Given the description of an element on the screen output the (x, y) to click on. 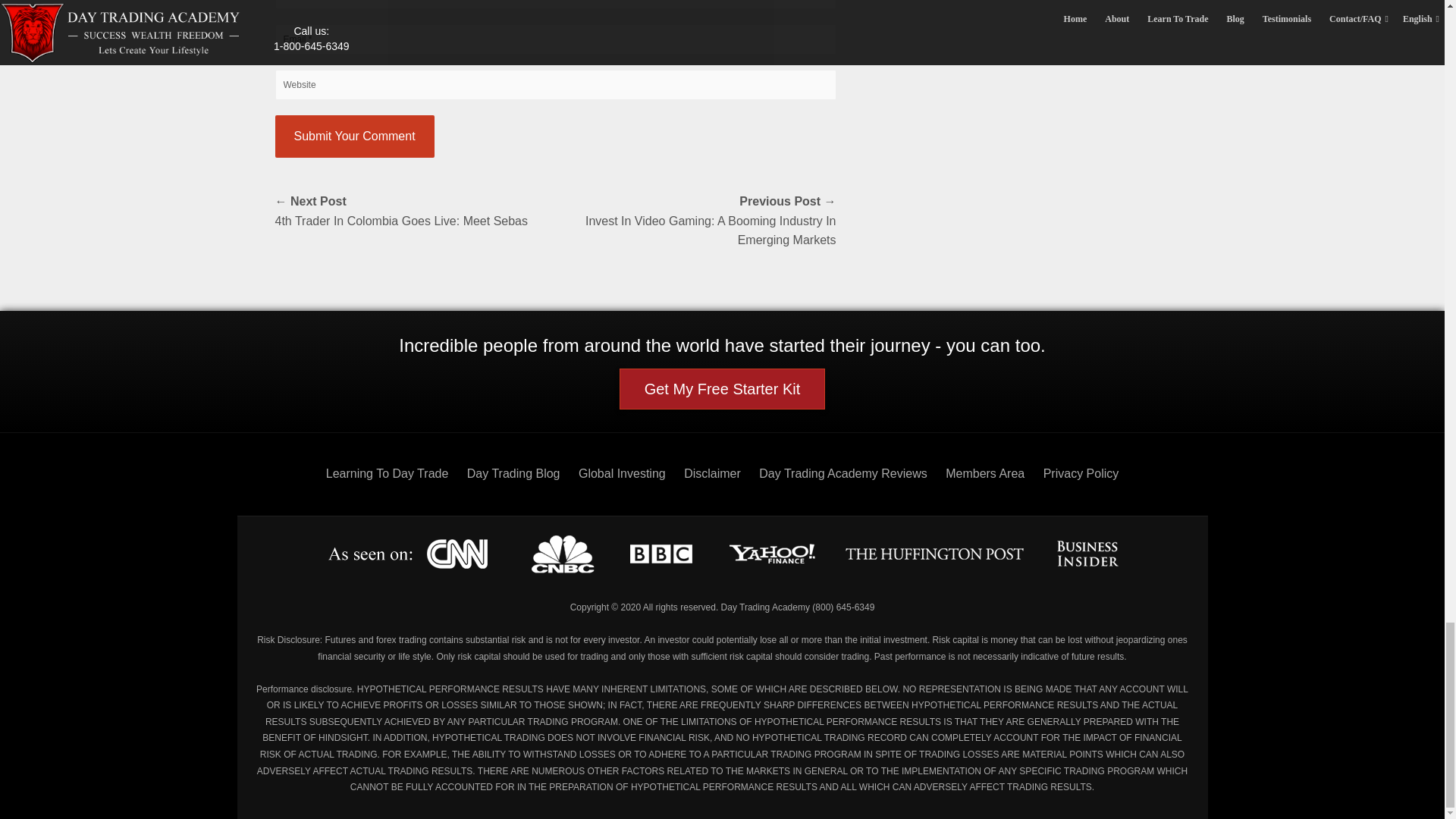
Learning To Day Trade (387, 472)
Get My Free Starter Kit (722, 388)
Global Investing (621, 472)
Submit Your Comment (354, 136)
Submit Your Comment (354, 136)
Day Trading Blog (513, 472)
4th Trader In Colombia Goes Live: Meet Sebas (414, 210)
